Given the description of an element on the screen output the (x, y) to click on. 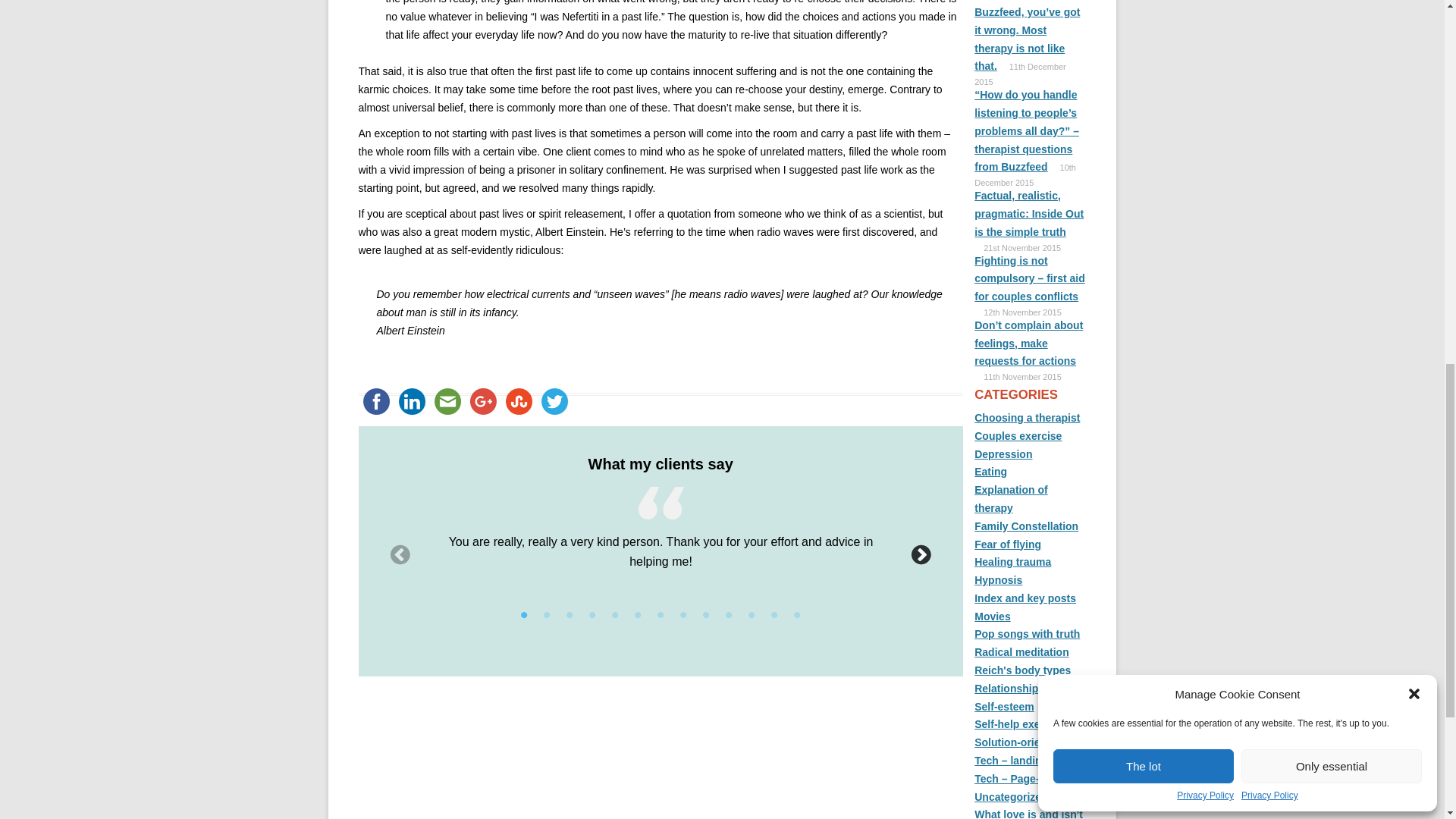
google (482, 401)
email (446, 401)
Next (921, 554)
4 (592, 615)
3 (569, 615)
7 (660, 615)
linkedin (411, 401)
1 (523, 615)
2 (546, 615)
Previous (399, 554)
